Given the description of an element on the screen output the (x, y) to click on. 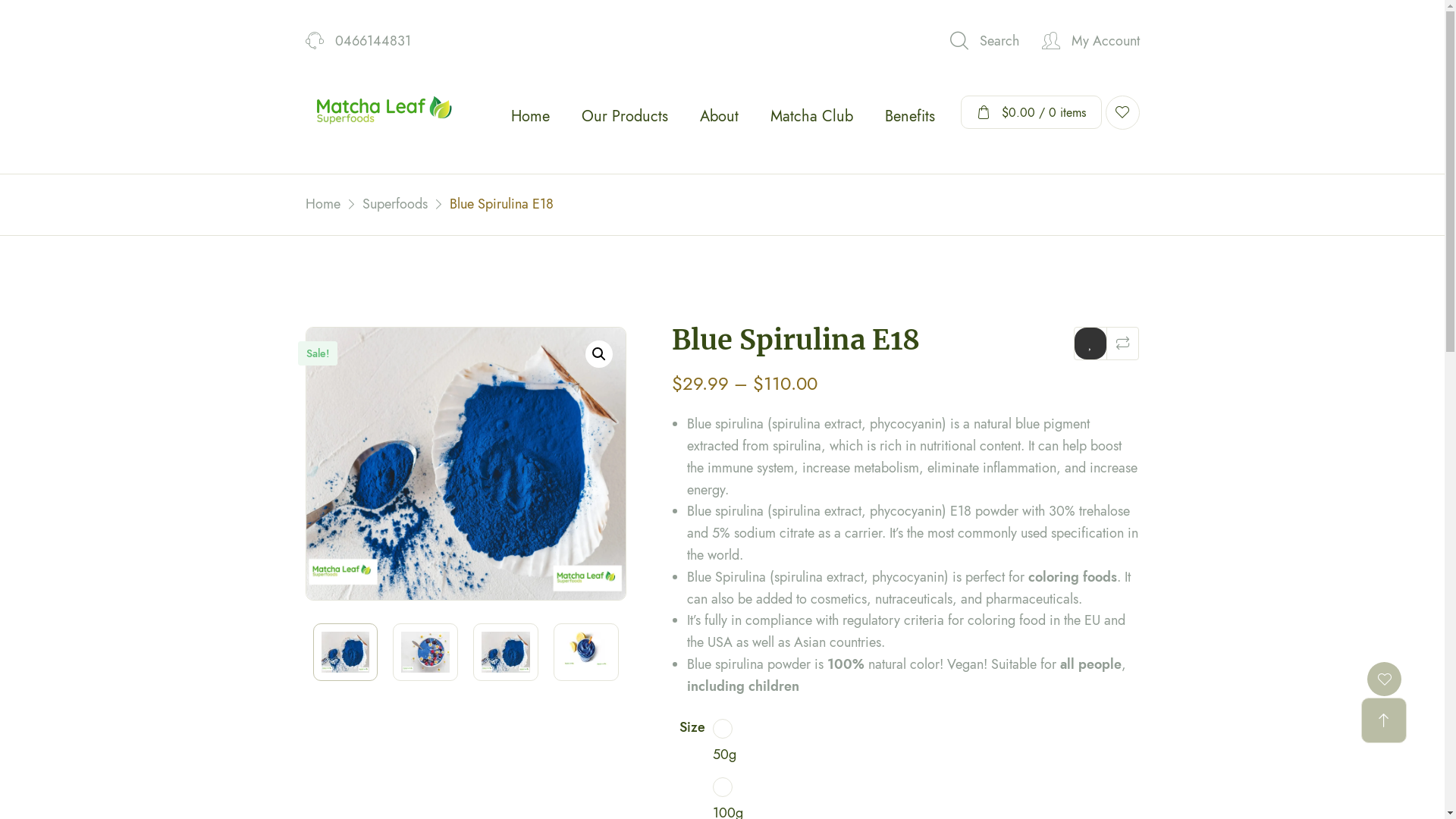
Benefits Element type: text (909, 116)
Matcha Club Element type: text (810, 116)
Search Element type: text (983, 41)
About Element type: text (719, 116)
Home Element type: text (321, 204)
Compare Element type: text (1122, 343)
My Account Element type: text (1090, 41)
matchaleaf-04 Element type: hover (784, 463)
Home Element type: text (529, 116)
matchaleaf-03 Element type: hover (465, 463)
Superfoods Element type: text (394, 204)
Our Products Element type: text (624, 116)
